Given the description of an element on the screen output the (x, y) to click on. 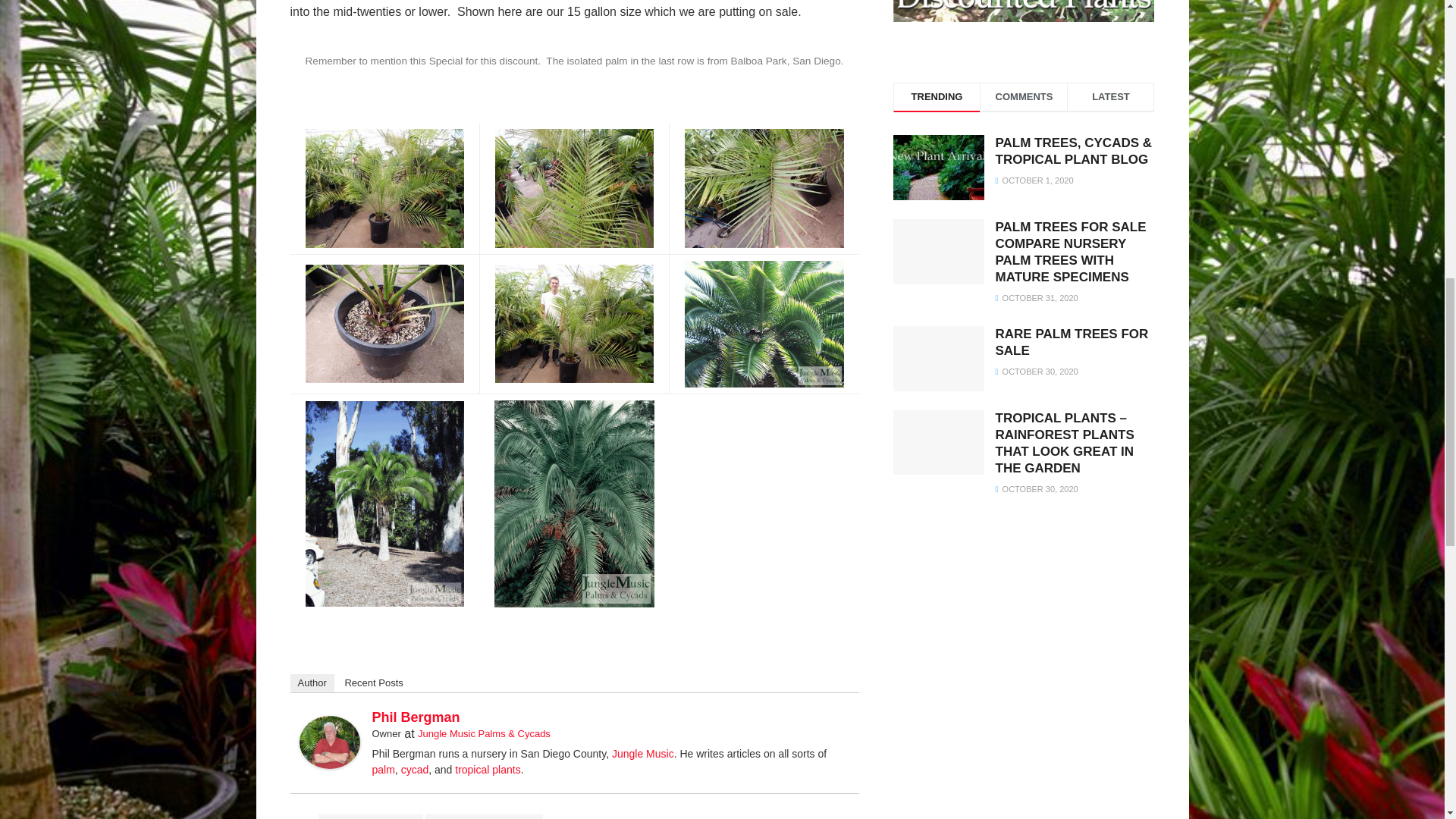
Phil Bergman (328, 740)
